Given the description of an element on the screen output the (x, y) to click on. 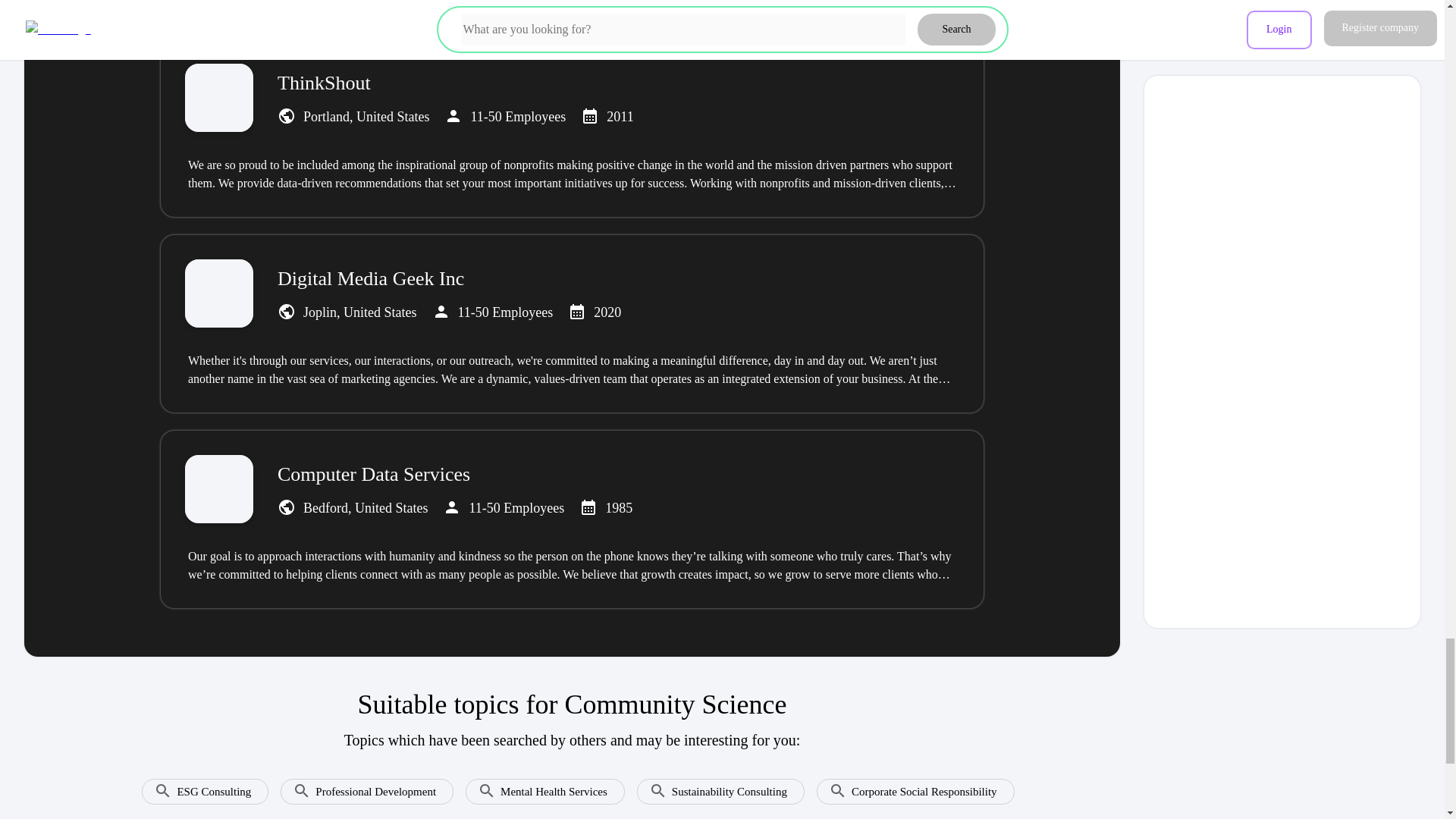
ESG Consulting (198, 785)
Corporate Social Responsibility (909, 785)
Mental Health Services (538, 785)
Sustainability Consulting (714, 785)
Professional Development (359, 785)
